Given the description of an element on the screen output the (x, y) to click on. 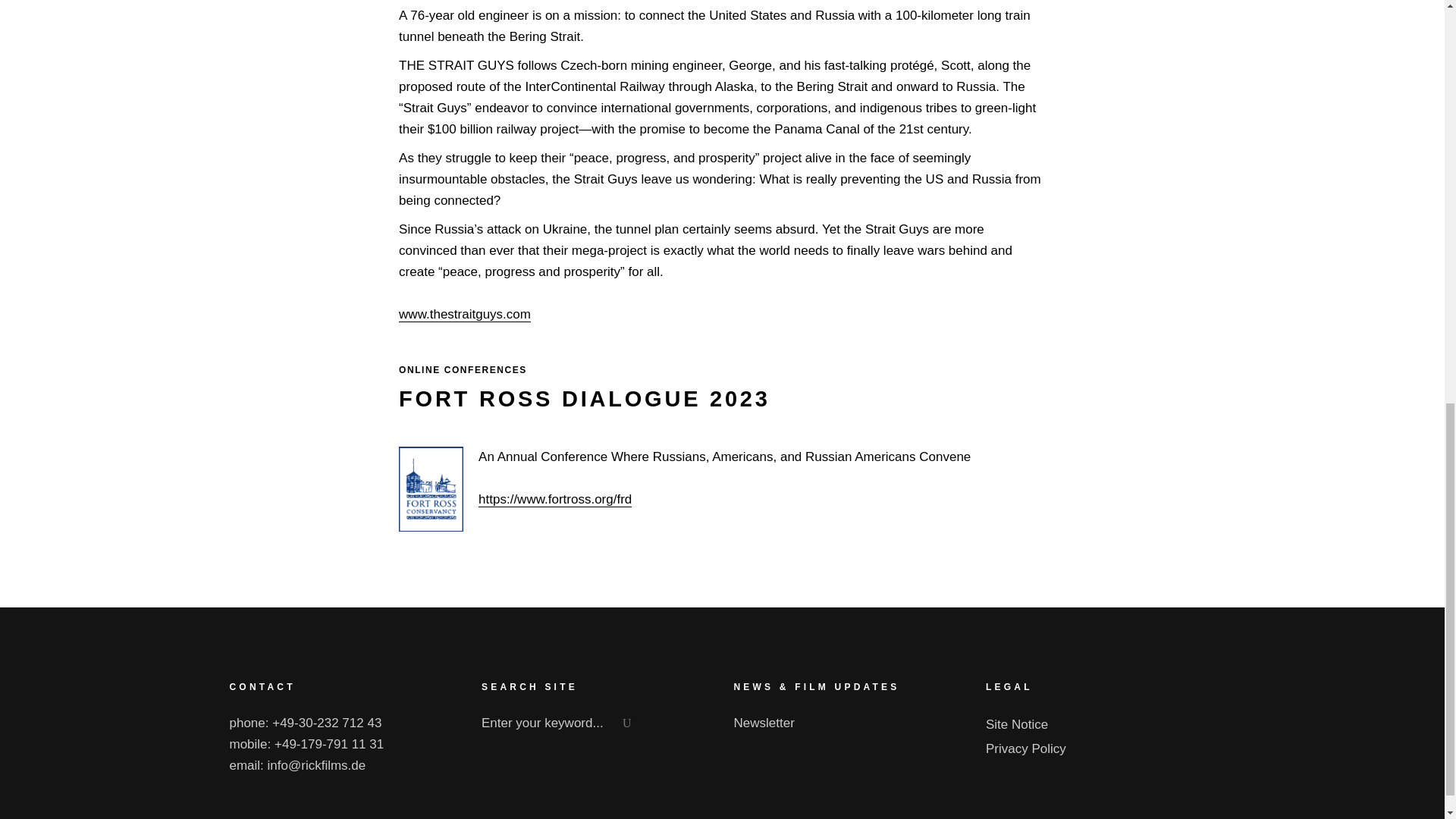
Search for: (561, 722)
Privacy Policy (1025, 748)
Site Notice (1016, 724)
www.thestraitguys.com (464, 314)
Newsletter (763, 722)
